Given the description of an element on the screen output the (x, y) to click on. 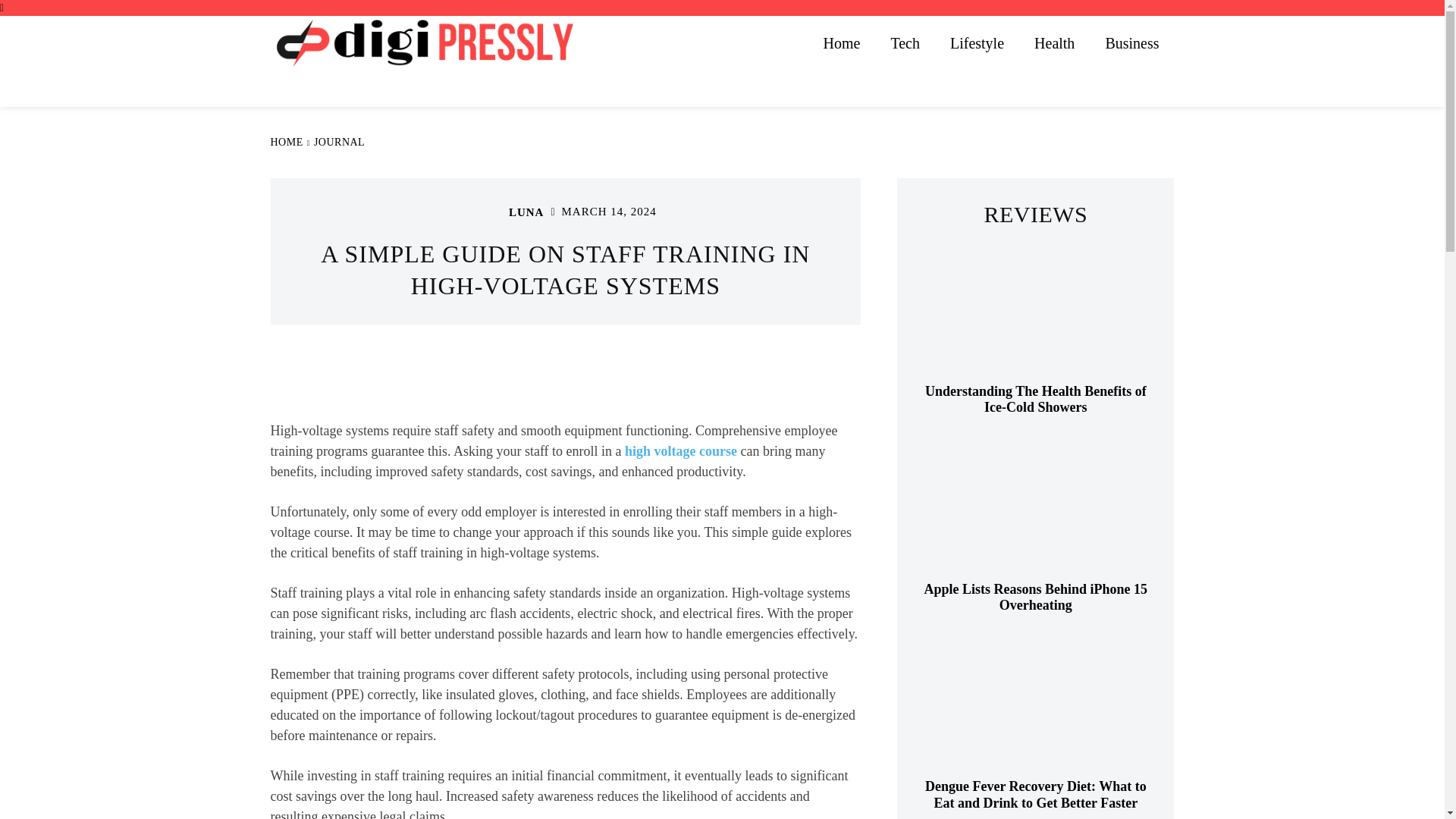
Understanding The Health Benefits of Ice-Cold Showers (1035, 399)
View all posts in Journal (339, 142)
Lifestyle (976, 42)
high voltage course (680, 450)
Business (1131, 42)
LUNA (526, 211)
Tech (904, 42)
Apple Lists Reasons Behind iPhone 15 Overheating (1036, 596)
Understanding The Health Benefits of Ice-Cold Showers (1035, 313)
JOURNAL (339, 142)
Home (842, 42)
HOME (285, 142)
Health (1054, 42)
Luna (489, 211)
